Given the description of an element on the screen output the (x, y) to click on. 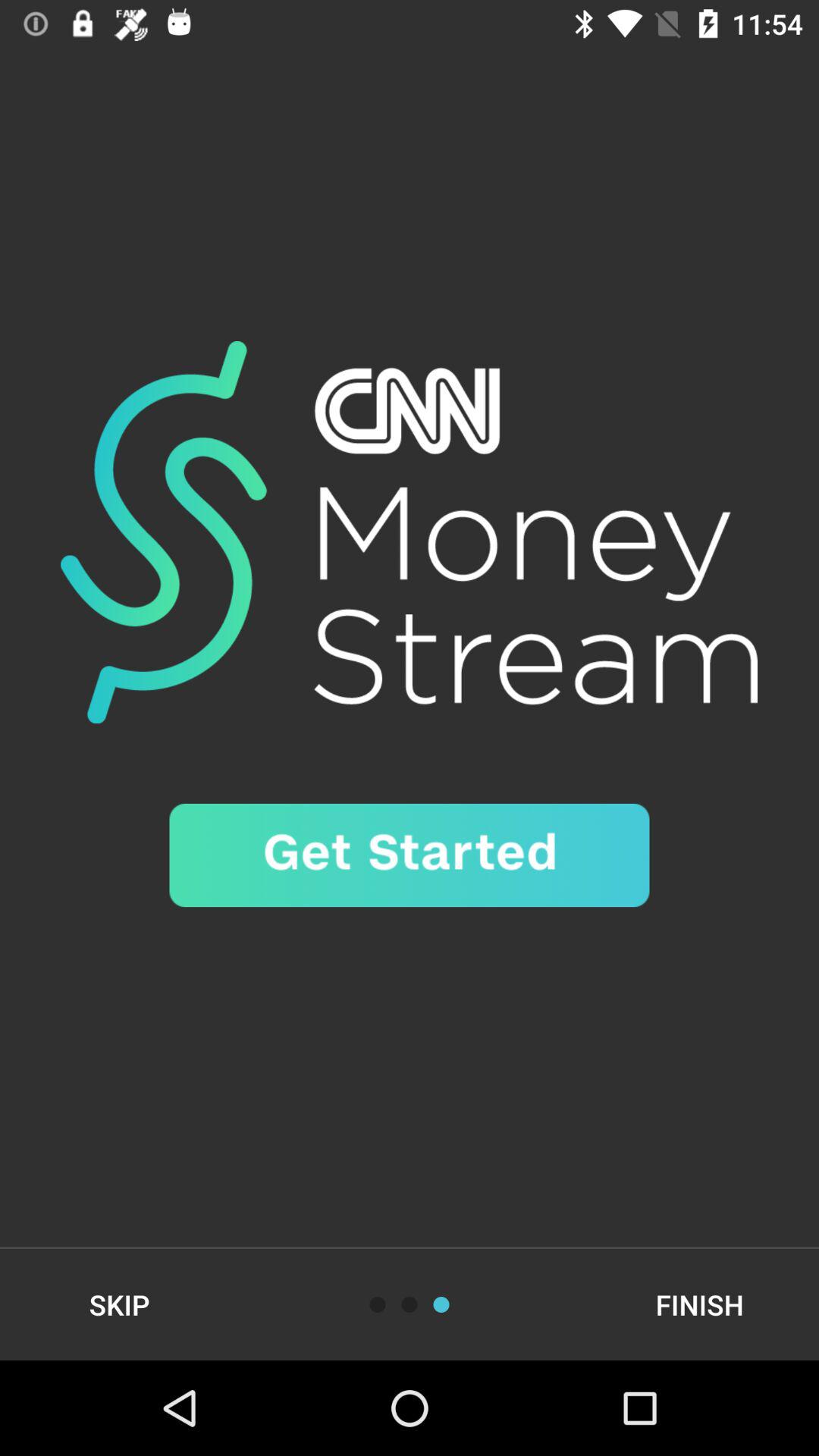
flip to the skip item (119, 1304)
